Given the description of an element on the screen output the (x, y) to click on. 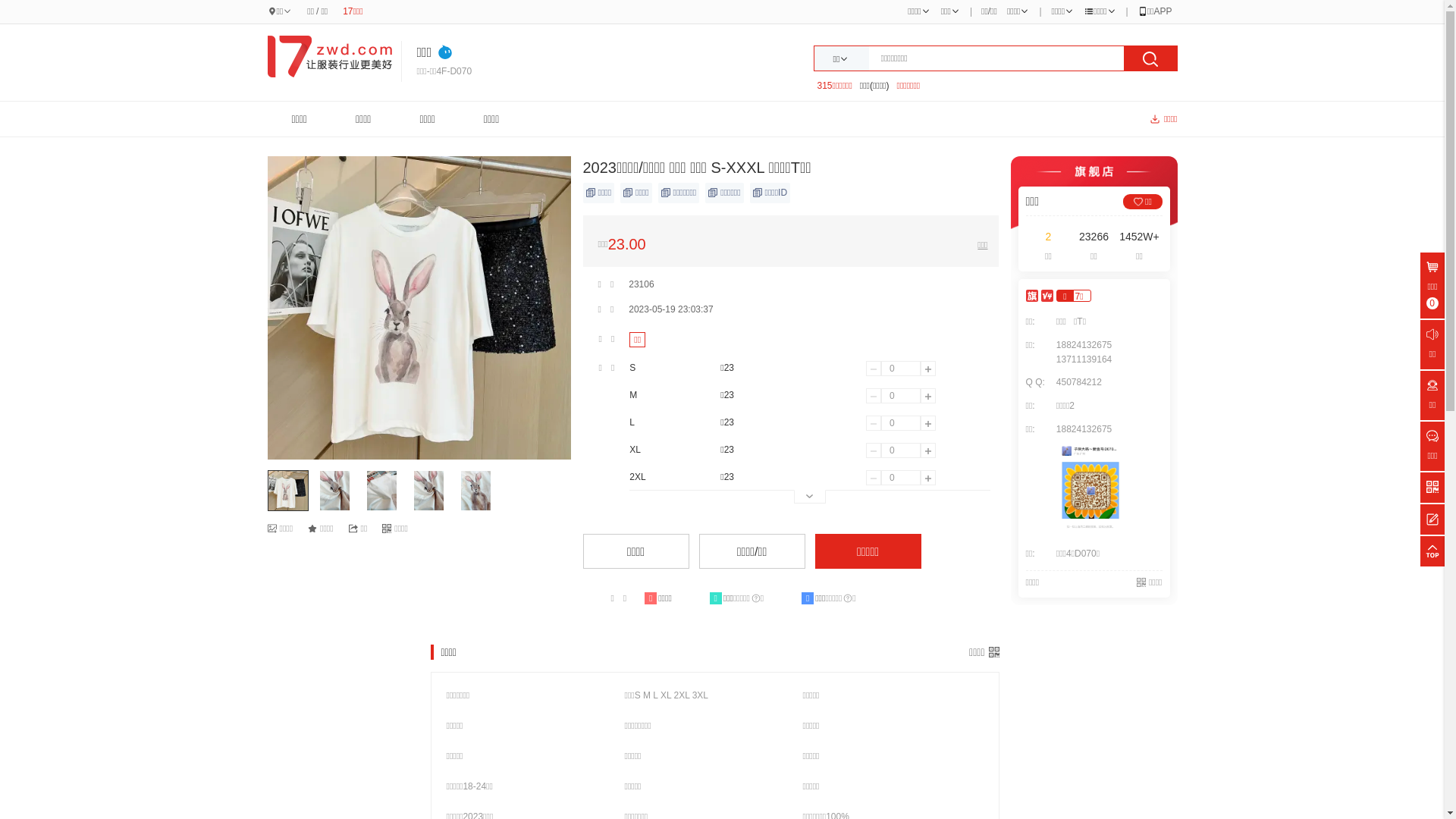
13711139164 Element type: text (1083, 359)
450784212 Element type: text (1078, 381)
18824132675 Element type: text (1083, 344)
